Given the description of an element on the screen output the (x, y) to click on. 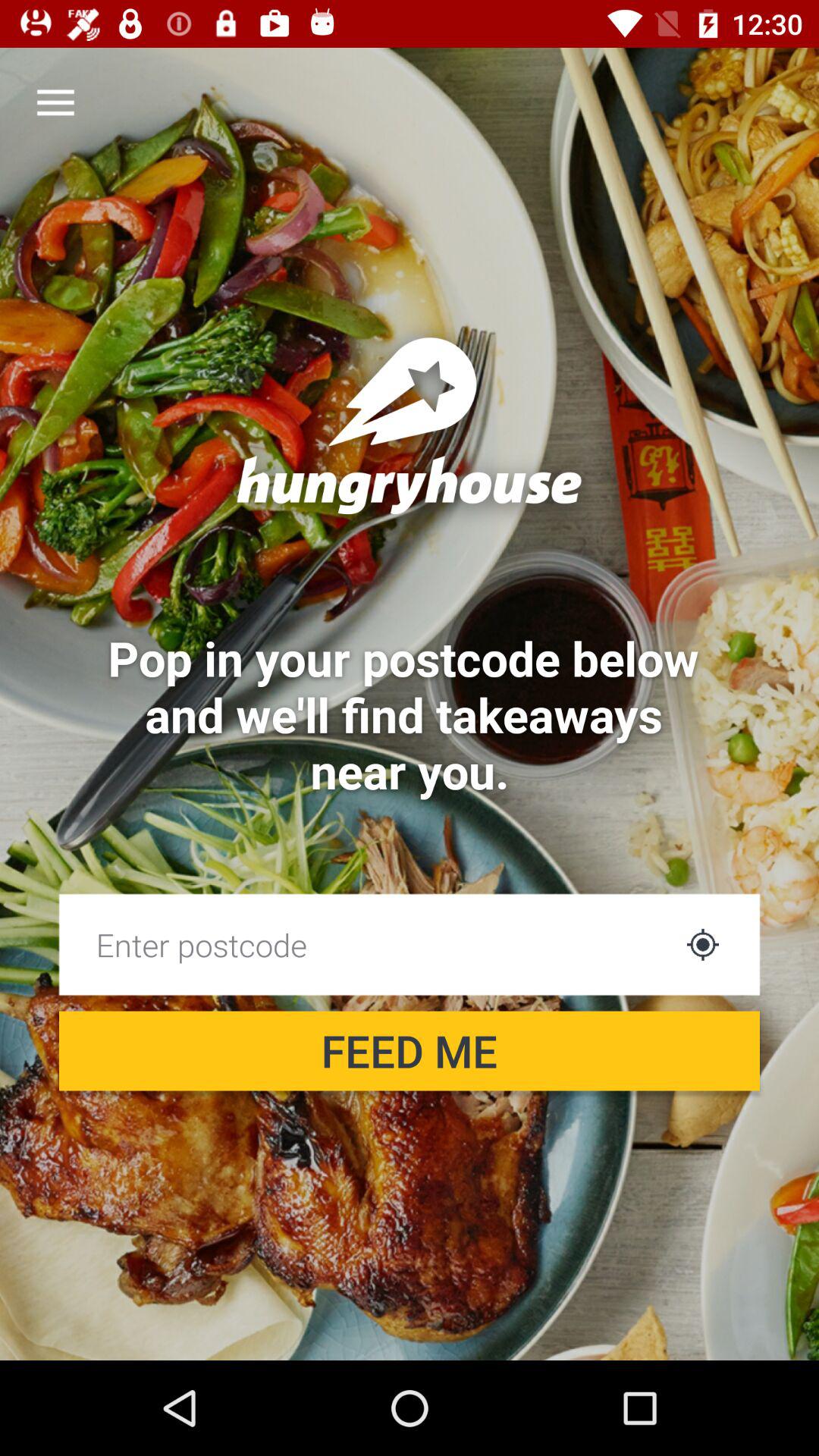
turn on the icon below pop in your icon (702, 944)
